Given the description of an element on the screen output the (x, y) to click on. 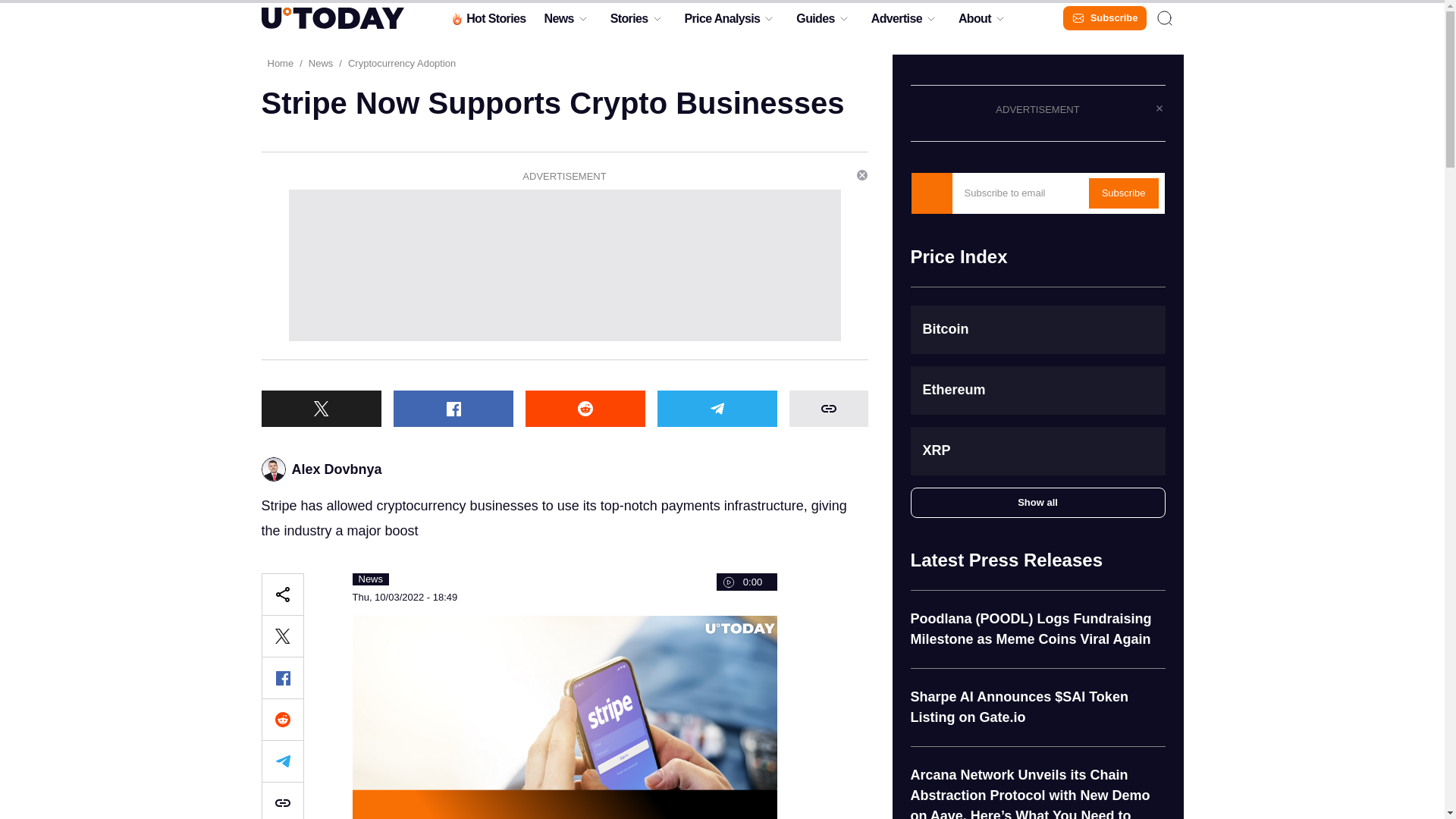
Share to X (281, 636)
Share to Reddit (584, 408)
Hot Stories (486, 22)
Share to Reddit (281, 719)
News (558, 22)
Stories (628, 22)
U.Today logo (331, 17)
Advertisement (564, 265)
Share to Facebook (281, 677)
Share to Telegram (281, 761)
